Given the description of an element on the screen output the (x, y) to click on. 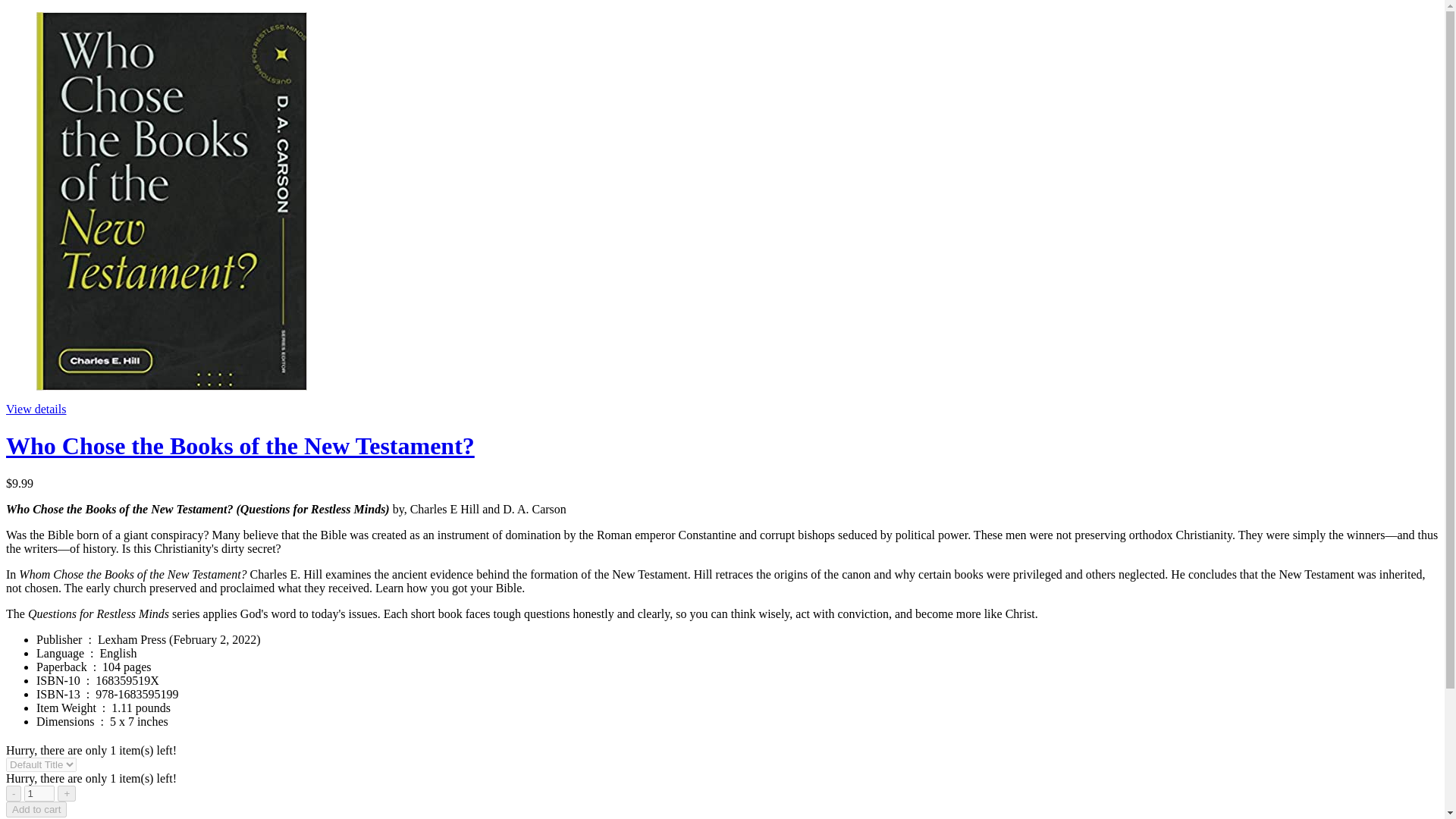
Add to cart (35, 809)
Who Chose the Books of the New Testament? (239, 445)
Qty (39, 793)
- (13, 793)
View details (35, 408)
1 (39, 793)
